Given the description of an element on the screen output the (x, y) to click on. 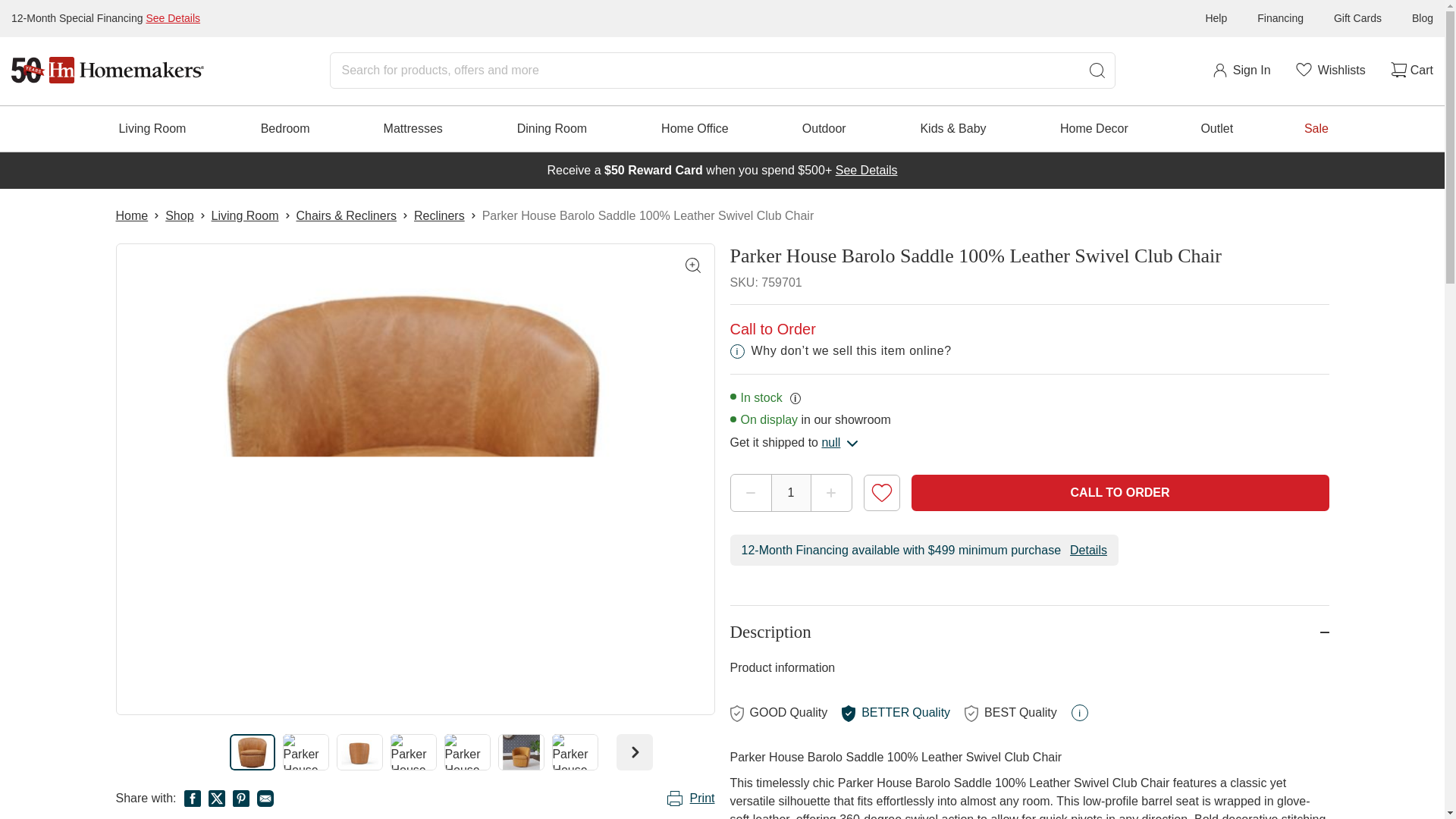
Gift Cards (1357, 18)
Outdoor (823, 128)
Search (1096, 70)
View your cart (1410, 70)
Sign In (1241, 70)
Bedroom (284, 128)
Home Office (694, 128)
Blog (1422, 18)
Wishlists (1329, 70)
Help (1216, 18)
See Details (172, 18)
Mattresses (412, 128)
Outlet (1217, 128)
Homepage (107, 69)
Home Decor (1094, 128)
